Given the description of an element on the screen output the (x, y) to click on. 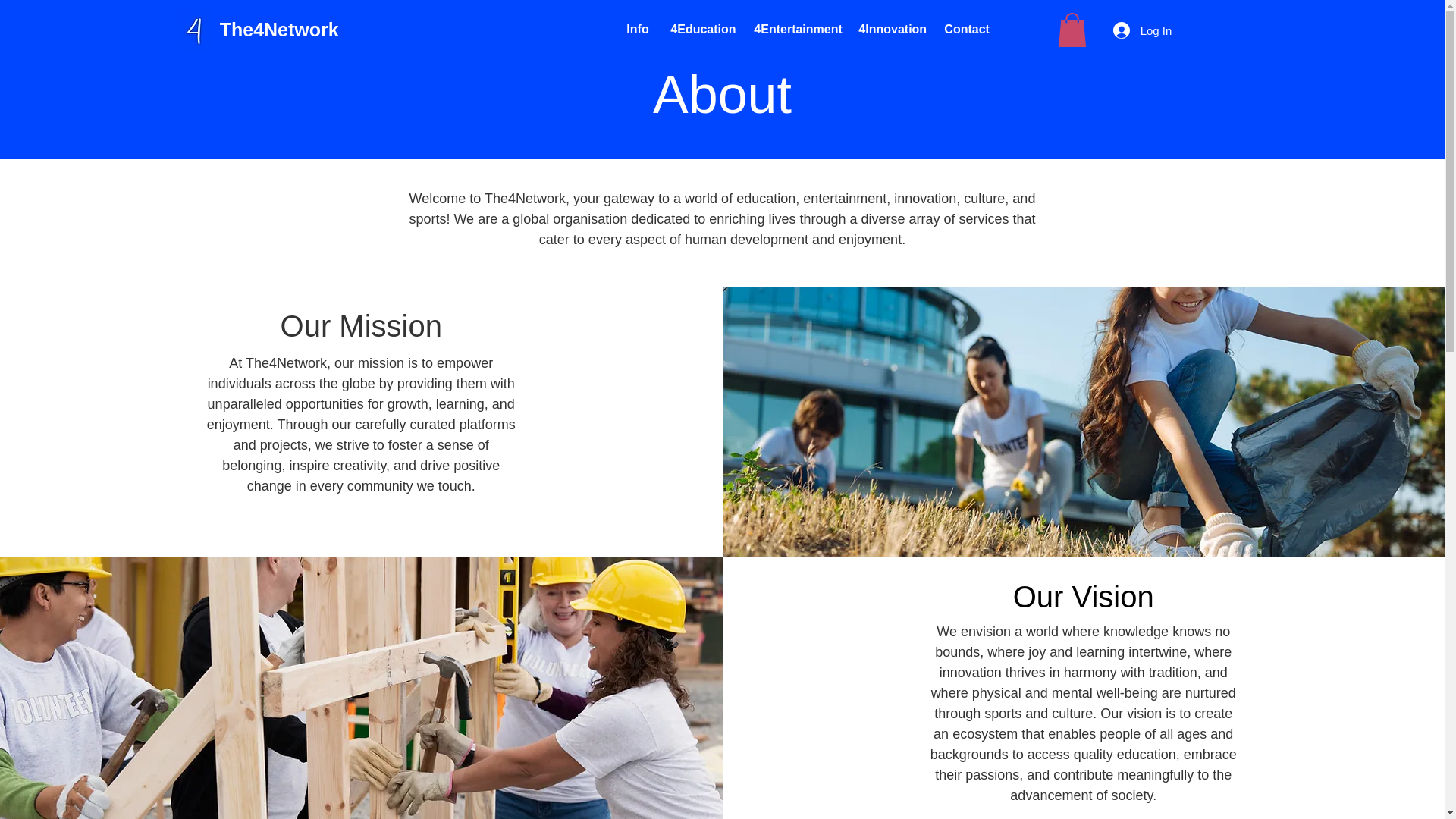
4Entertainment (794, 29)
Contact (965, 29)
4Education (700, 29)
Log In (1142, 30)
The4Network (279, 29)
